Given the description of an element on the screen output the (x, y) to click on. 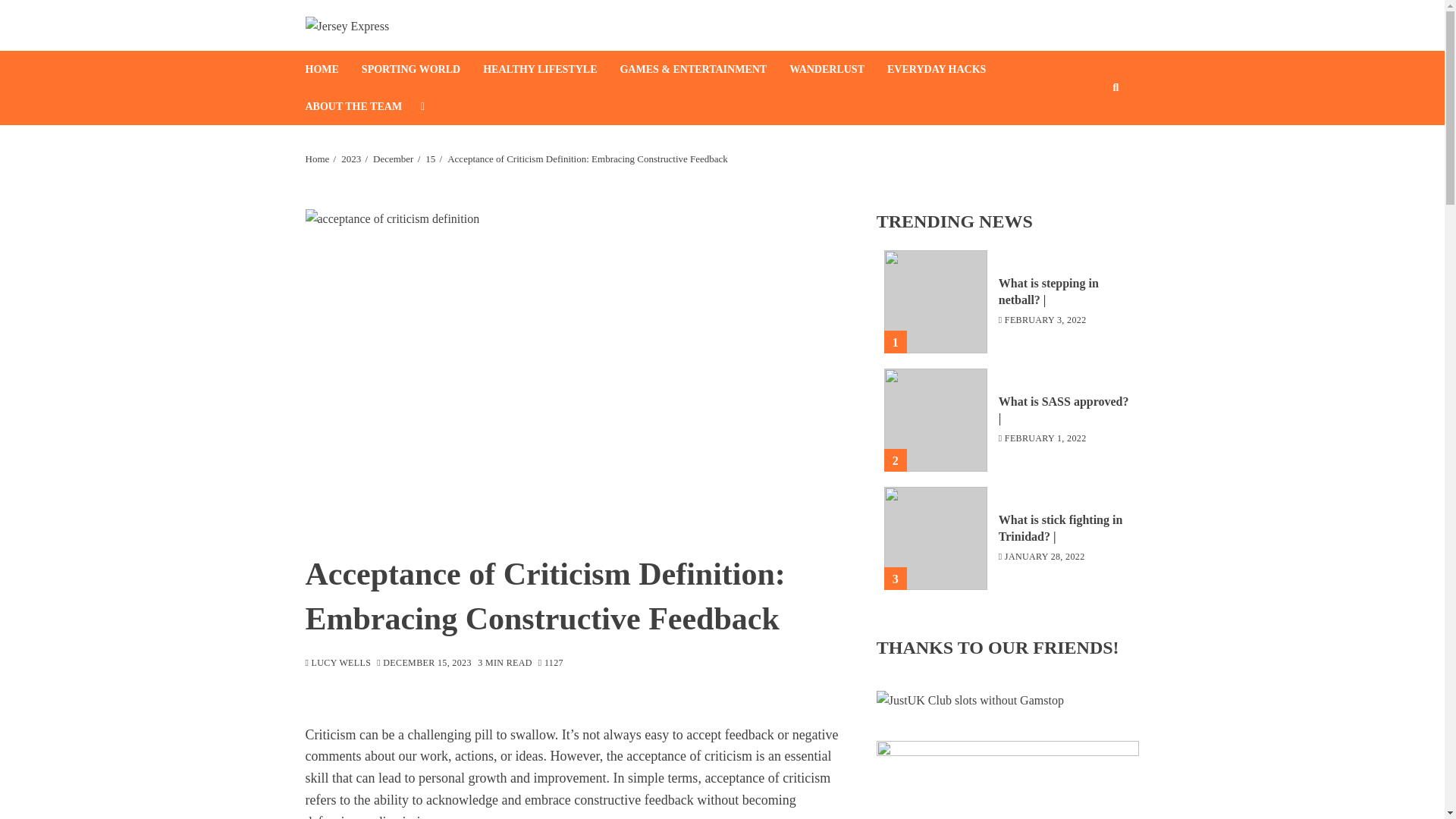
1127 (550, 663)
December (392, 159)
HOME (332, 68)
ABOUT THE TEAM (364, 106)
SPORTING WORLD (422, 68)
Home (316, 159)
Search (1092, 133)
LUCY WELLS (337, 663)
2023 (350, 159)
EVERYDAY HACKS (947, 68)
